Given the description of an element on the screen output the (x, y) to click on. 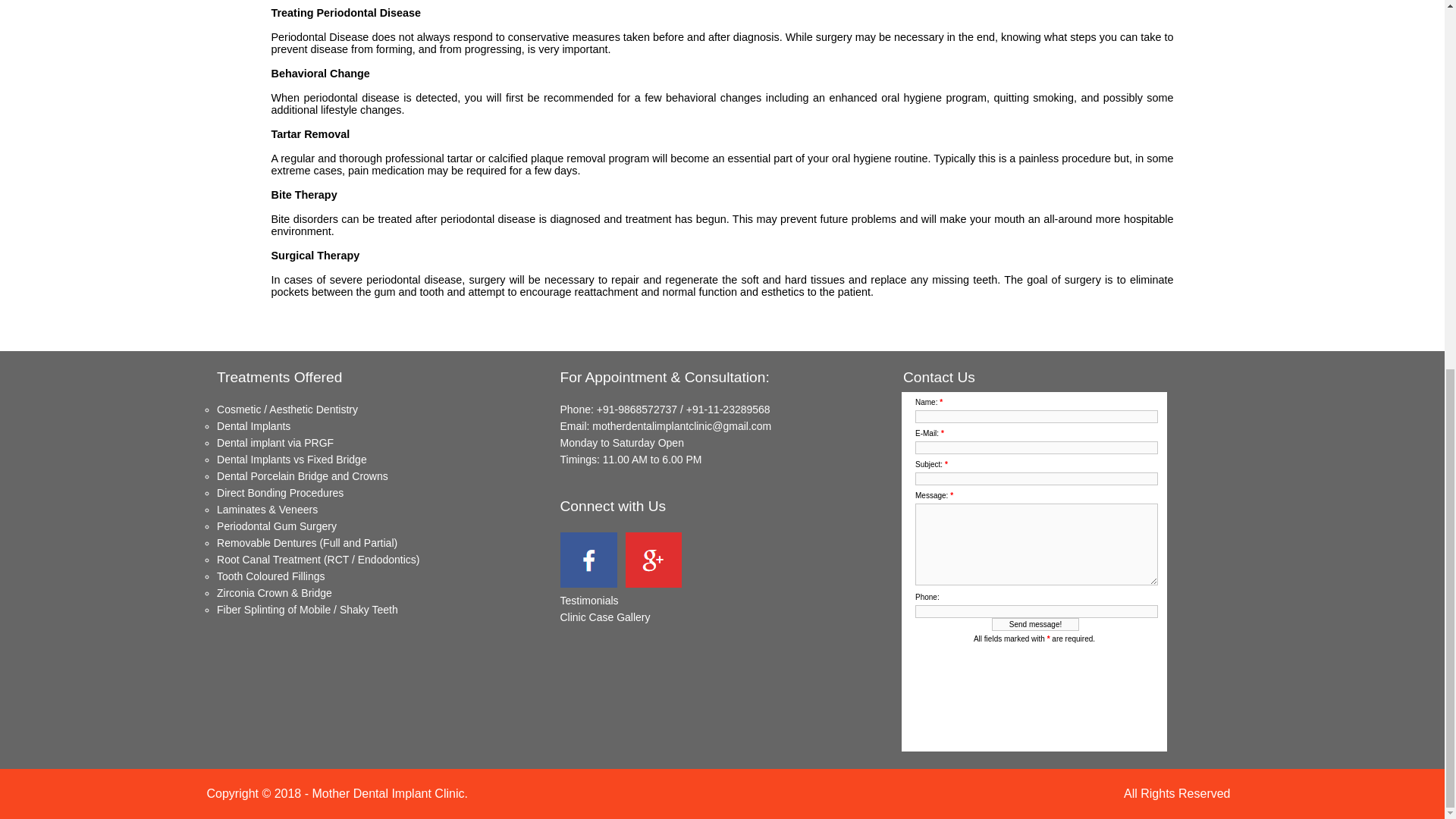
Dental implant via PRGF (274, 442)
Periodontal Gum Surgery (276, 526)
Dental Implants (252, 426)
Dental Implants vs Fixed Bridge (291, 459)
Tooth Coloured Fillings (270, 576)
Direct Bonding Procedures (279, 492)
Dental Porcelain Bridge and Crowns (302, 476)
